Given the description of an element on the screen output the (x, y) to click on. 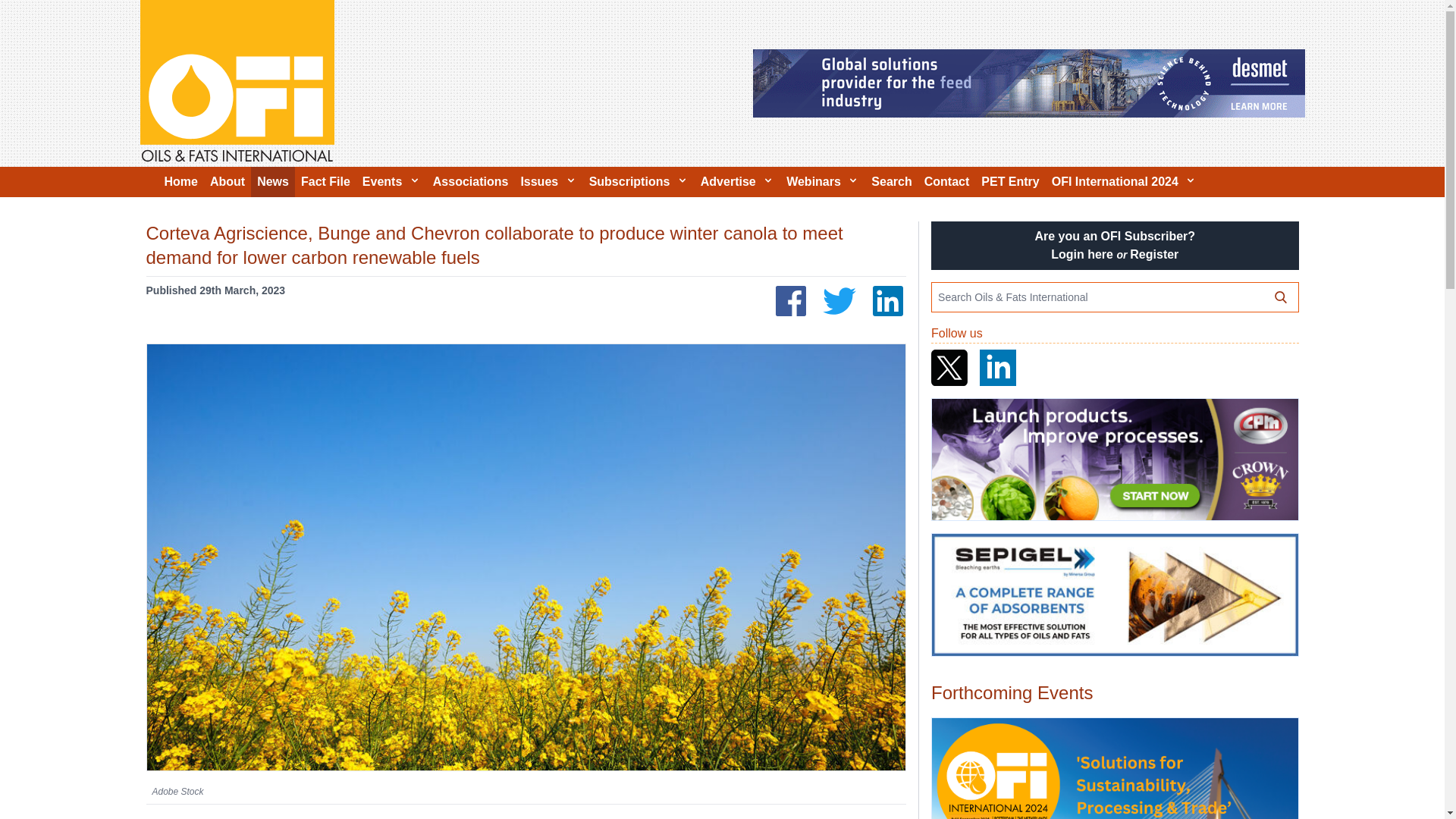
Fact File (325, 182)
Share on LinkedIn (887, 300)
Subscriptions (638, 182)
Crown JUL 24 - Accelerate it - speciality (1114, 459)
OFI International 2024 (1114, 768)
Webinars (822, 182)
About (226, 182)
Share on Facebook (791, 300)
Issues (547, 182)
Sepigel 2024 (1114, 594)
Search (890, 182)
PET Entry (1010, 182)
Home (180, 182)
News (272, 182)
OFI International 2024 (1124, 182)
